Given the description of an element on the screen output the (x, y) to click on. 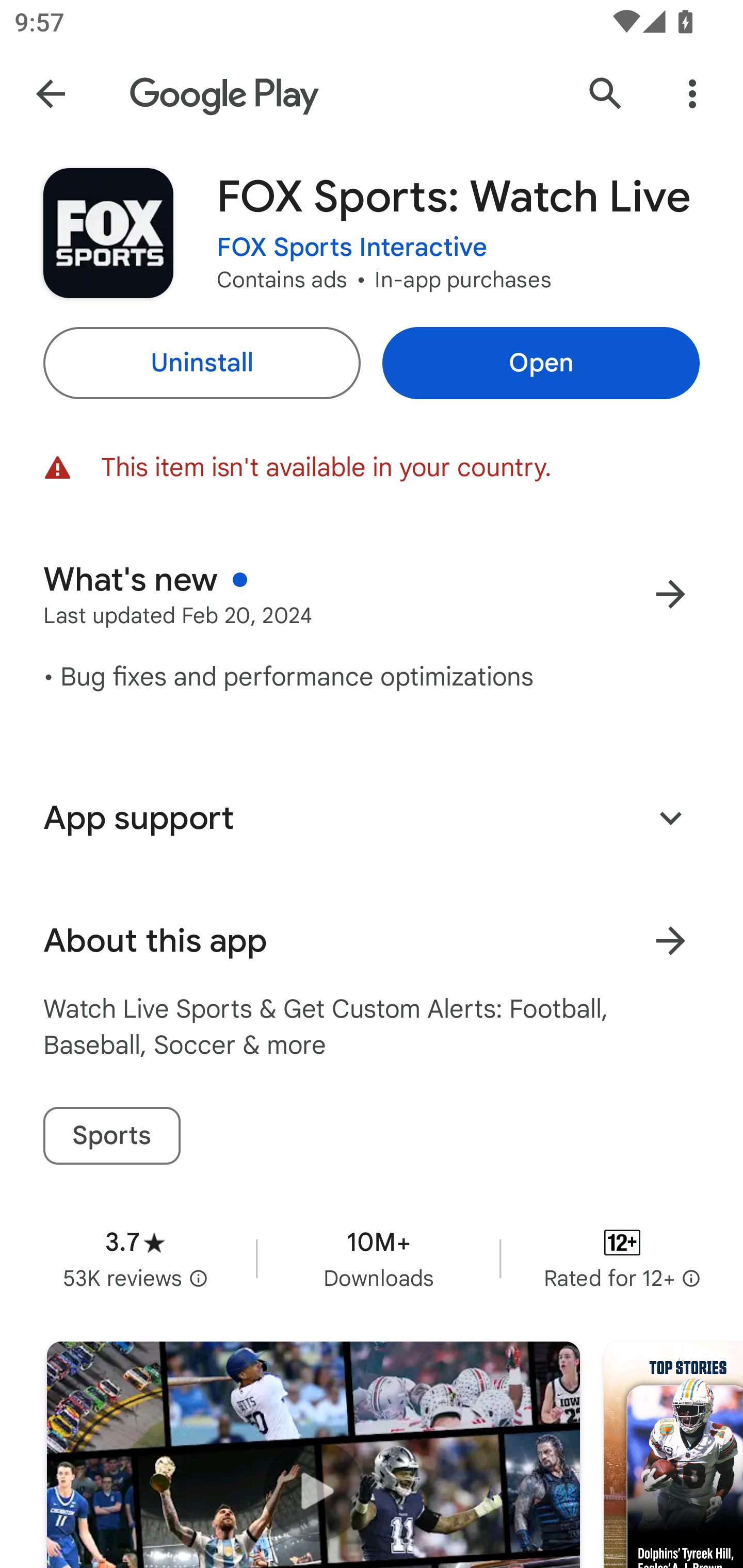
Navigate up (50, 93)
Search Google Play (605, 93)
More Options (692, 93)
FOX Sports Interactive (351, 247)
Uninstall (201, 362)
Open (540, 362)
More results for What's new (670, 594)
App support Expand (371, 817)
Expand (670, 817)
About this app Learn more About this app (371, 940)
Learn more About this app (670, 940)
Sports tag (111, 1135)
Average rating 3.7 stars in 53 thousand reviews (135, 1258)
Content rating Rated for 12+ (622, 1258)
Play trailer for "FOX Sports: Watch Live" (313, 1455)
